Given the description of an element on the screen output the (x, y) to click on. 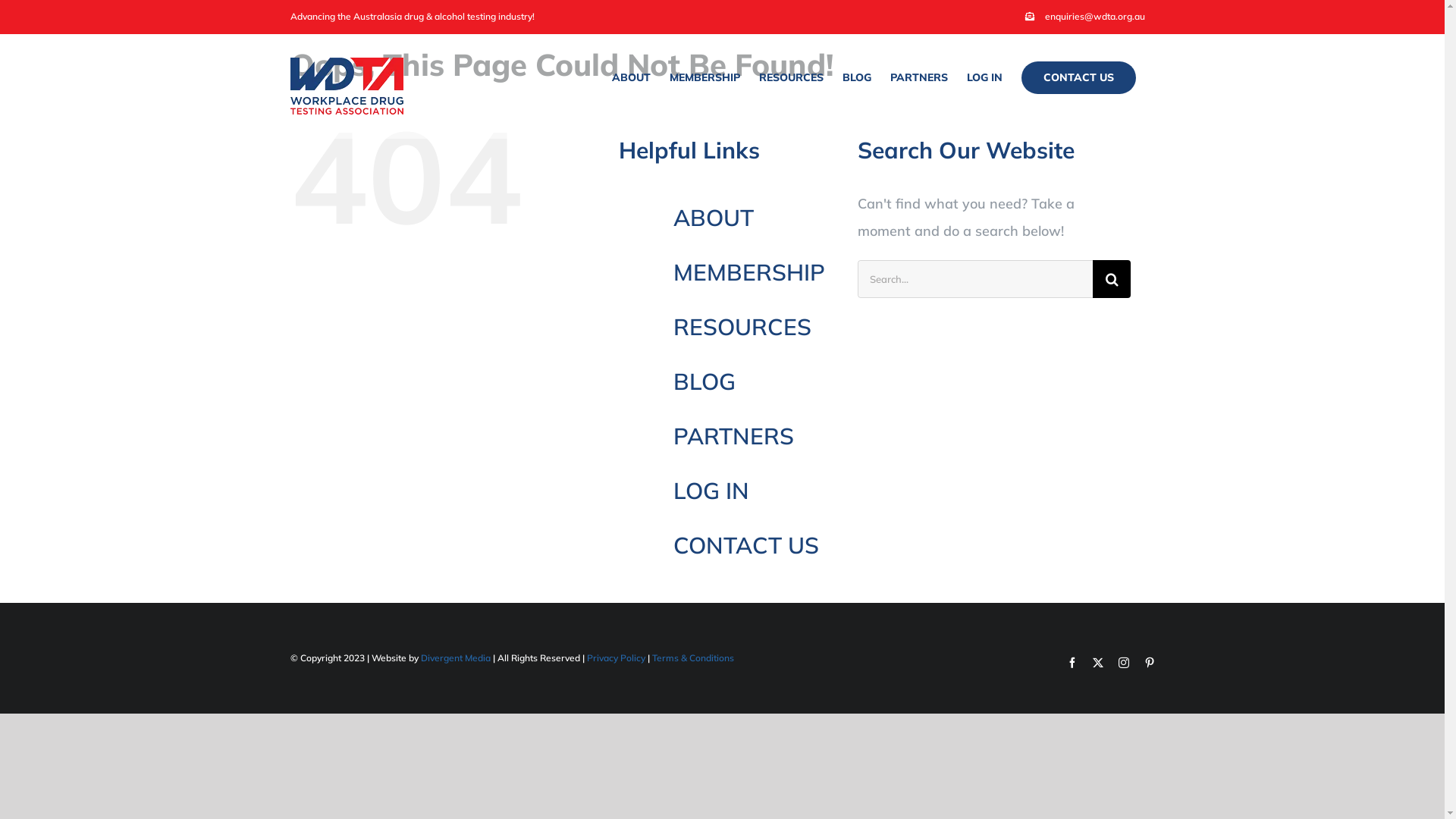
Facebook Element type: text (1071, 662)
ABOUT Element type: text (630, 77)
BLOG Element type: text (855, 77)
enquiries@wdta.org.au Element type: text (1084, 16)
Privacy Policy Element type: text (615, 657)
CONTACT US Element type: text (746, 544)
Divergent Media Element type: text (454, 657)
MEMBERSHIP Element type: text (749, 271)
RESOURCES Element type: text (790, 77)
Pinterest Element type: text (1148, 662)
RESOURCES Element type: text (742, 326)
LOG IN Element type: text (983, 77)
PARTNERS Element type: text (733, 435)
MEMBERSHIP Element type: text (703, 77)
CONTACT US Element type: text (1077, 77)
LOG IN Element type: text (711, 490)
PARTNERS Element type: text (918, 77)
Terms & Conditions Element type: text (693, 657)
BLOG Element type: text (704, 381)
Instagram Element type: text (1122, 662)
ABOUT Element type: text (713, 217)
Twitter Element type: text (1097, 662)
